Given the description of an element on the screen output the (x, y) to click on. 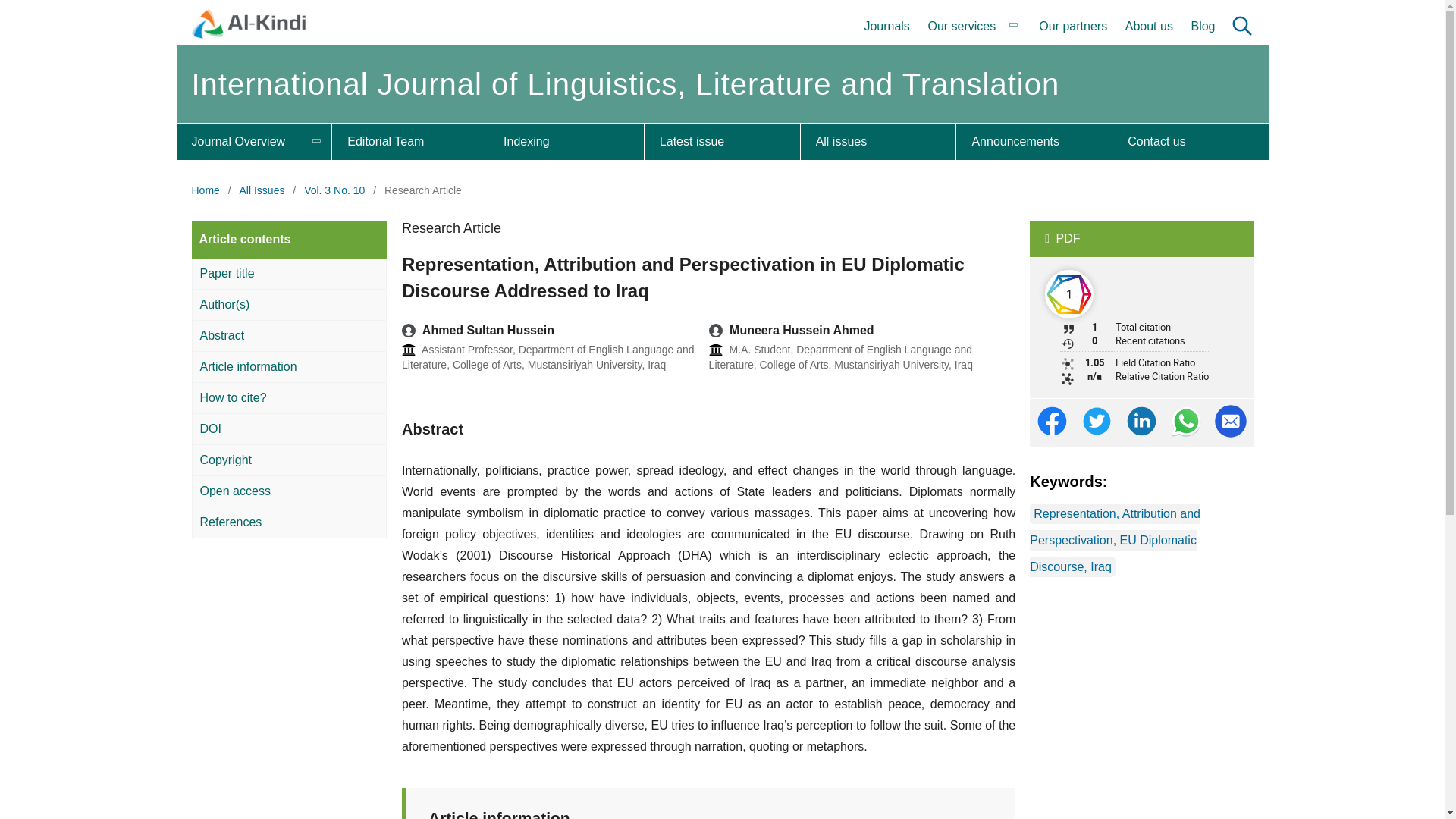
Editorial Team (409, 140)
Journals (885, 27)
Contact us (1190, 140)
Our partners (1072, 27)
Our services (973, 27)
Announcements (1034, 140)
All issues (878, 140)
Paper title (287, 273)
About us (1149, 27)
Indexing (565, 140)
